Given the description of an element on the screen output the (x, y) to click on. 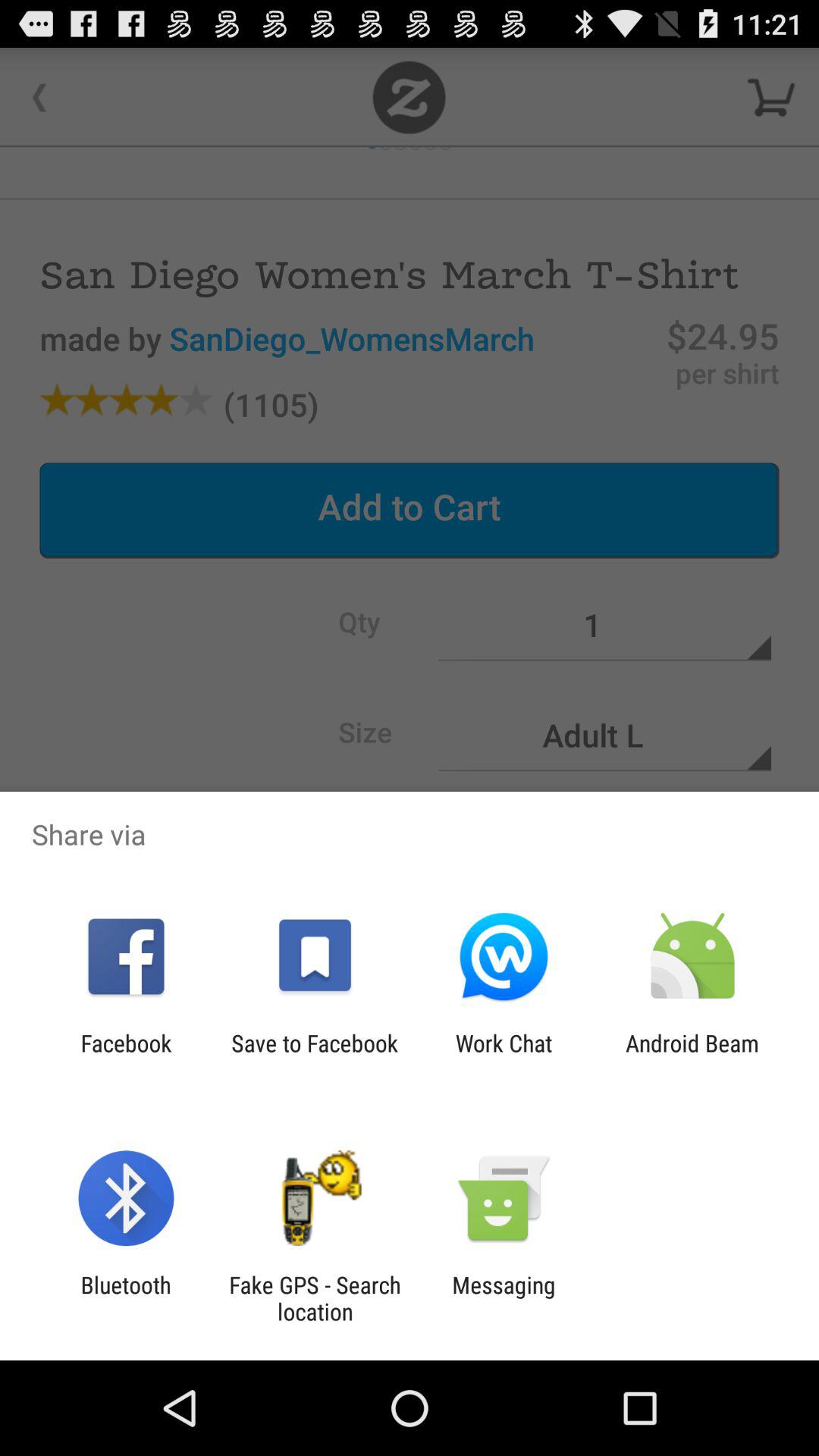
swipe to the bluetooth (125, 1298)
